Given the description of an element on the screen output the (x, y) to click on. 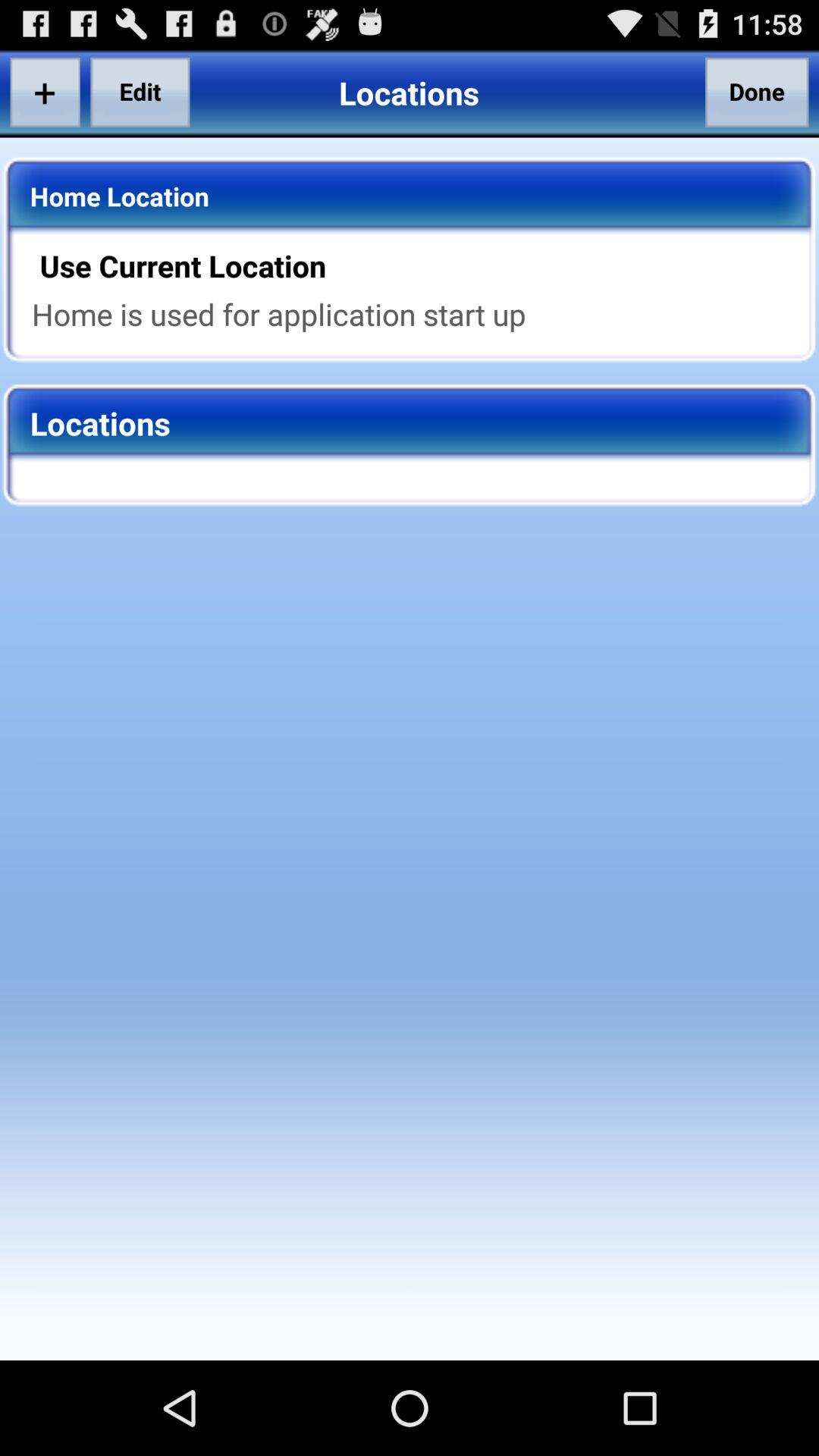
choose item next to the + item (139, 92)
